Given the description of an element on the screen output the (x, y) to click on. 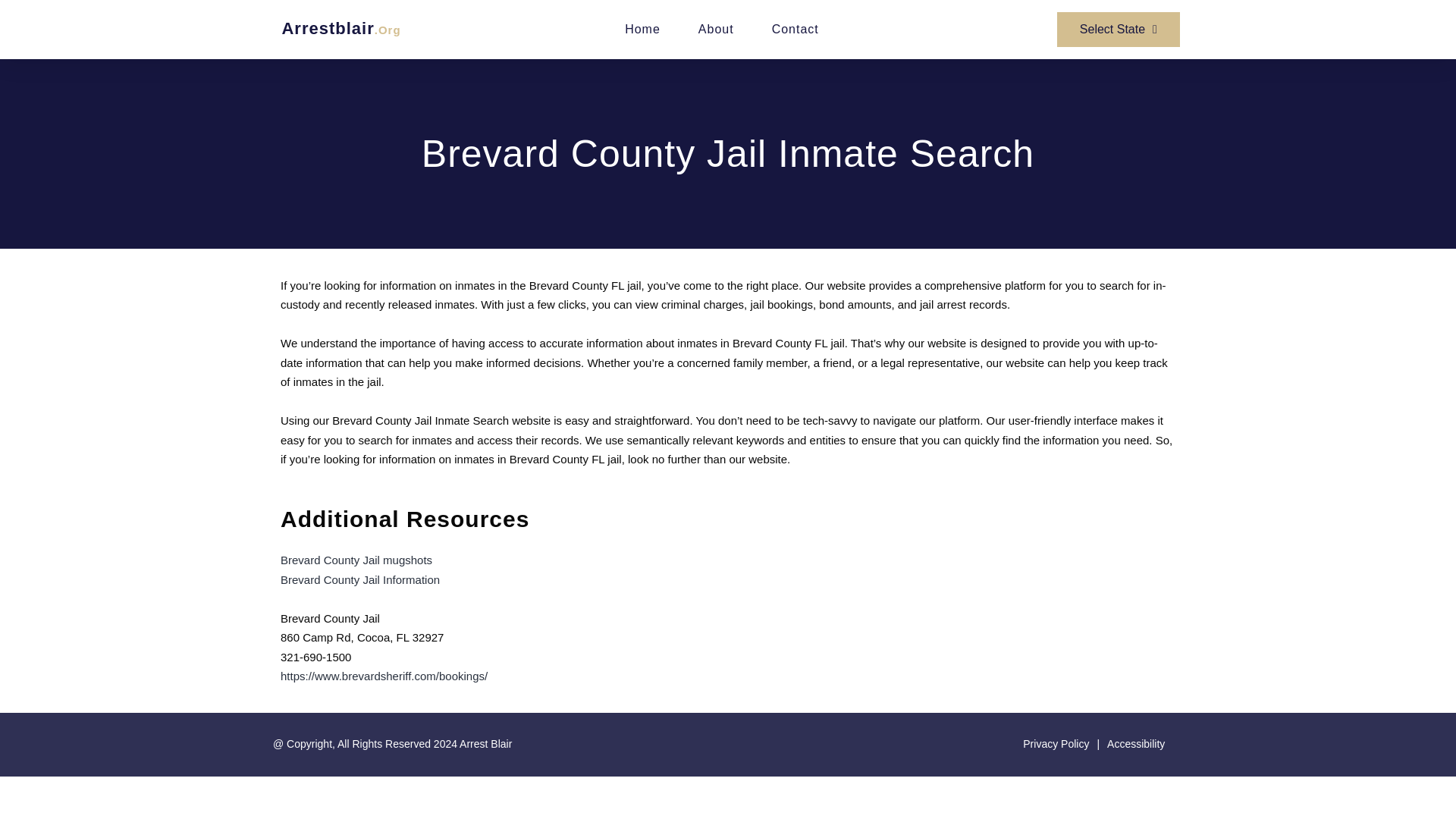
Privacy Policy (1051, 744)
About (715, 29)
Accessibility (1131, 744)
Contact (794, 29)
Home (642, 29)
Brevard County Jail mugshots (356, 559)
Select State (1118, 29)
Brevard County Jail Information (360, 579)
Arrestblair.Org (340, 27)
